Given the description of an element on the screen output the (x, y) to click on. 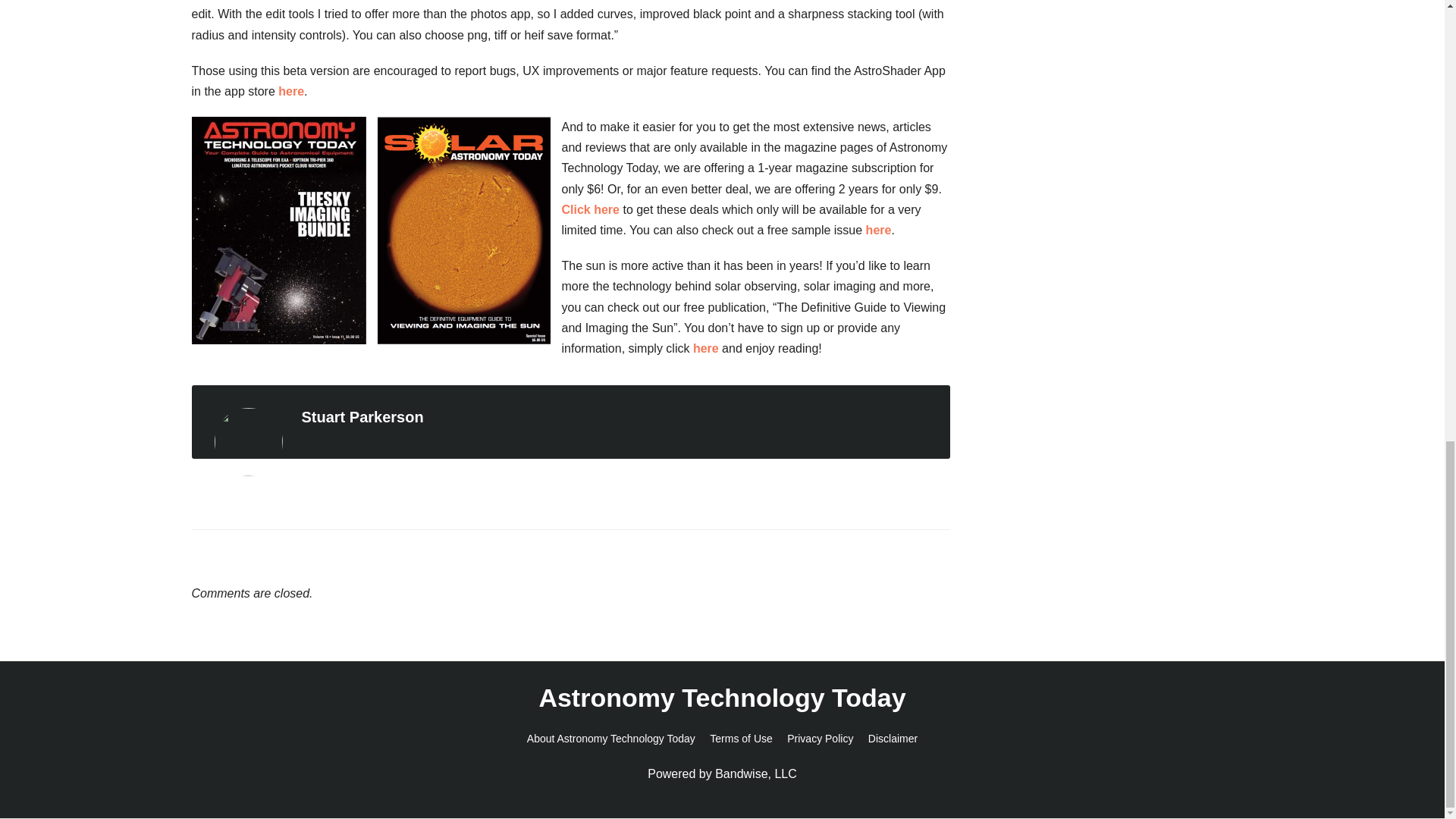
Posts by Stuart Parkerson (362, 416)
here (878, 229)
here (291, 91)
Click here (589, 209)
